Given the description of an element on the screen output the (x, y) to click on. 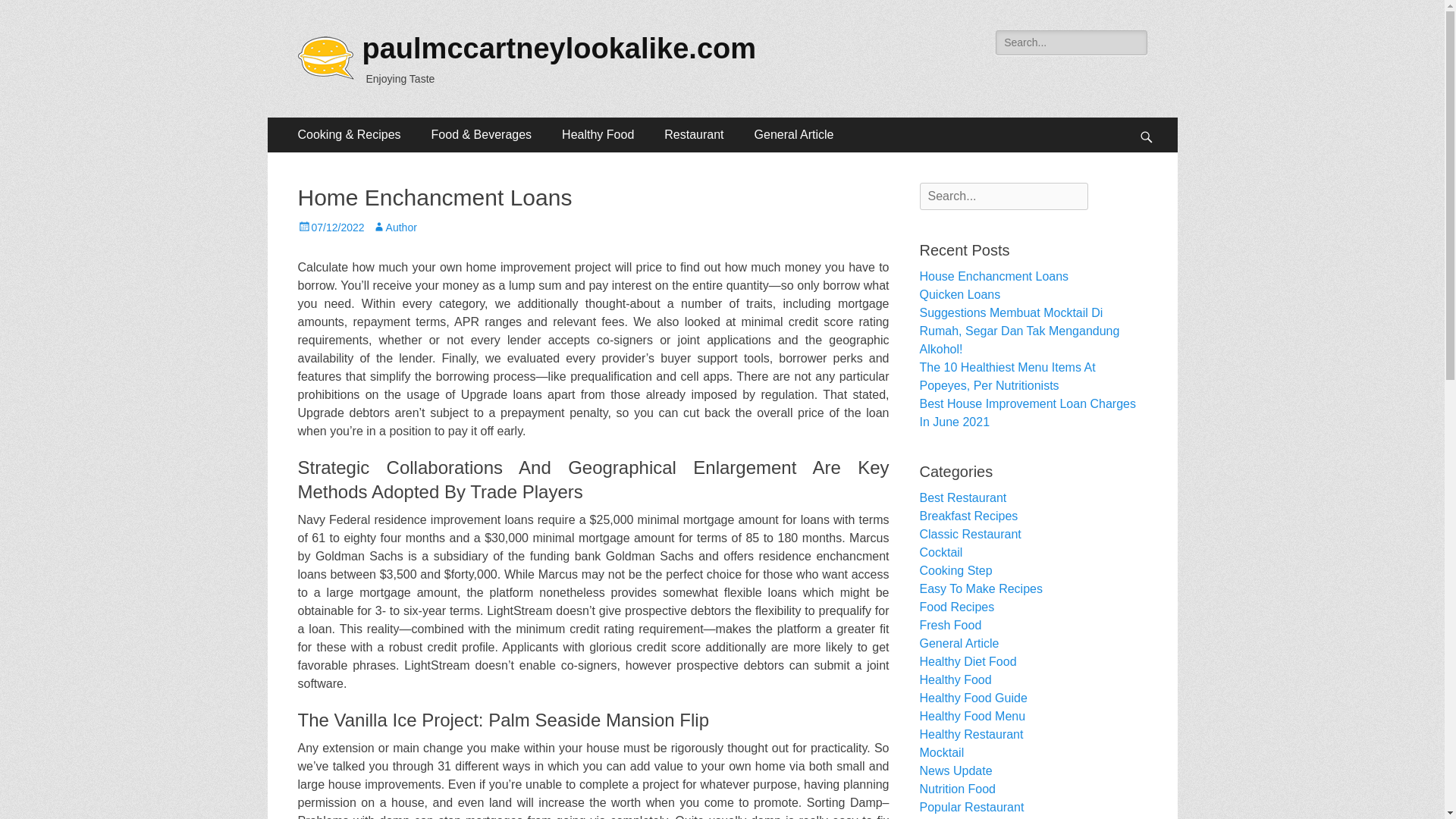
Search for: (1002, 195)
paulmccartneylookalike.com (559, 48)
Restaurant (693, 134)
Search (33, 13)
General Article (793, 134)
Author (394, 227)
Search for: (1071, 42)
Healthy Food (598, 134)
